Given the description of an element on the screen output the (x, y) to click on. 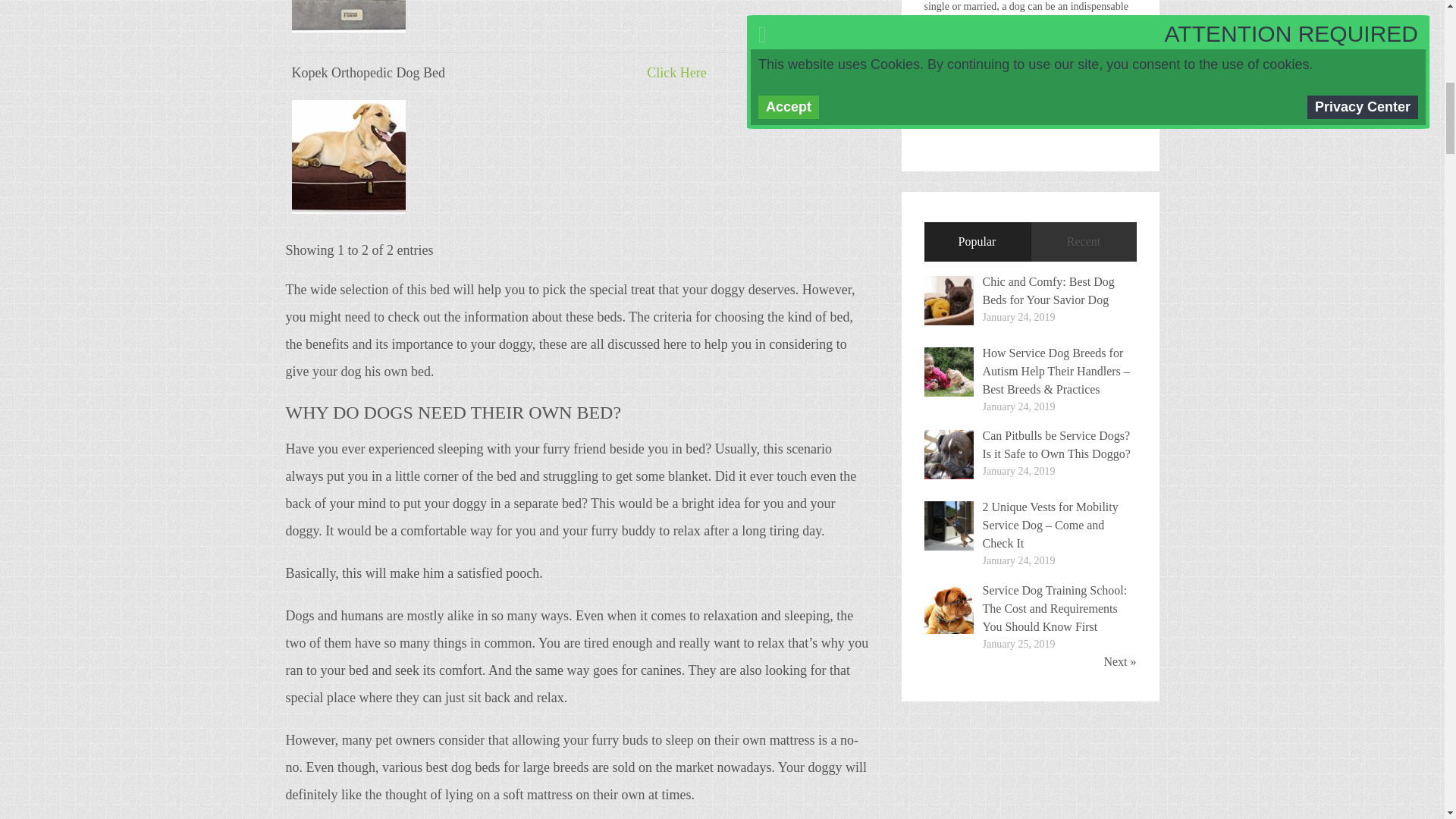
Can Pitbulls be Service Dogs? Is it Safe to Own This Doggo? (1056, 444)
Chic and Comfy: Best Dog Beds for Your Savior Dog (1048, 290)
Click Here (676, 72)
